Given the description of an element on the screen output the (x, y) to click on. 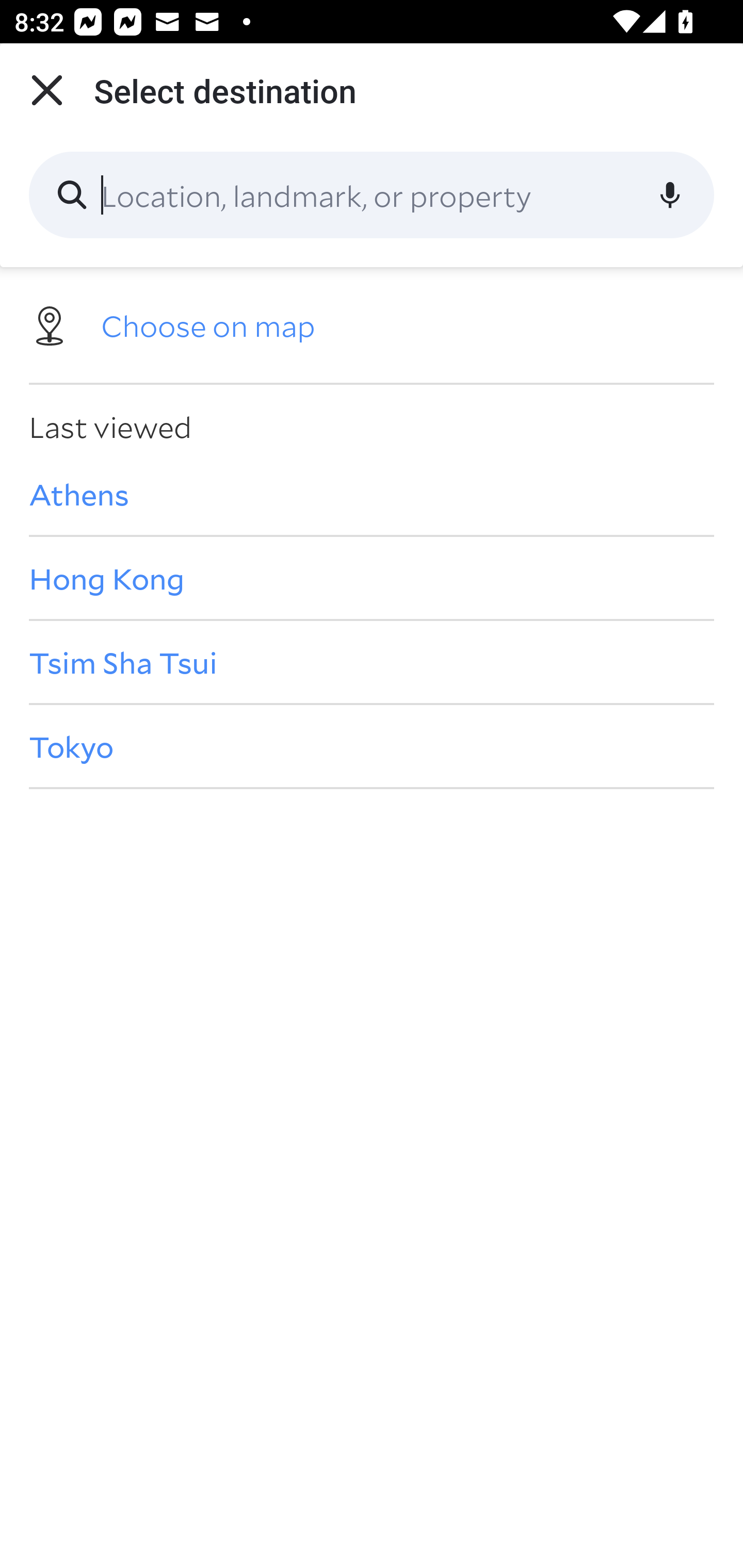
Location, landmark, or property (371, 195)
Choose on map (371, 324)
Athens (371, 493)
Hong Kong (371, 577)
Tsim Sha Tsui (371, 661)
Tokyo (371, 746)
